Given the description of an element on the screen output the (x, y) to click on. 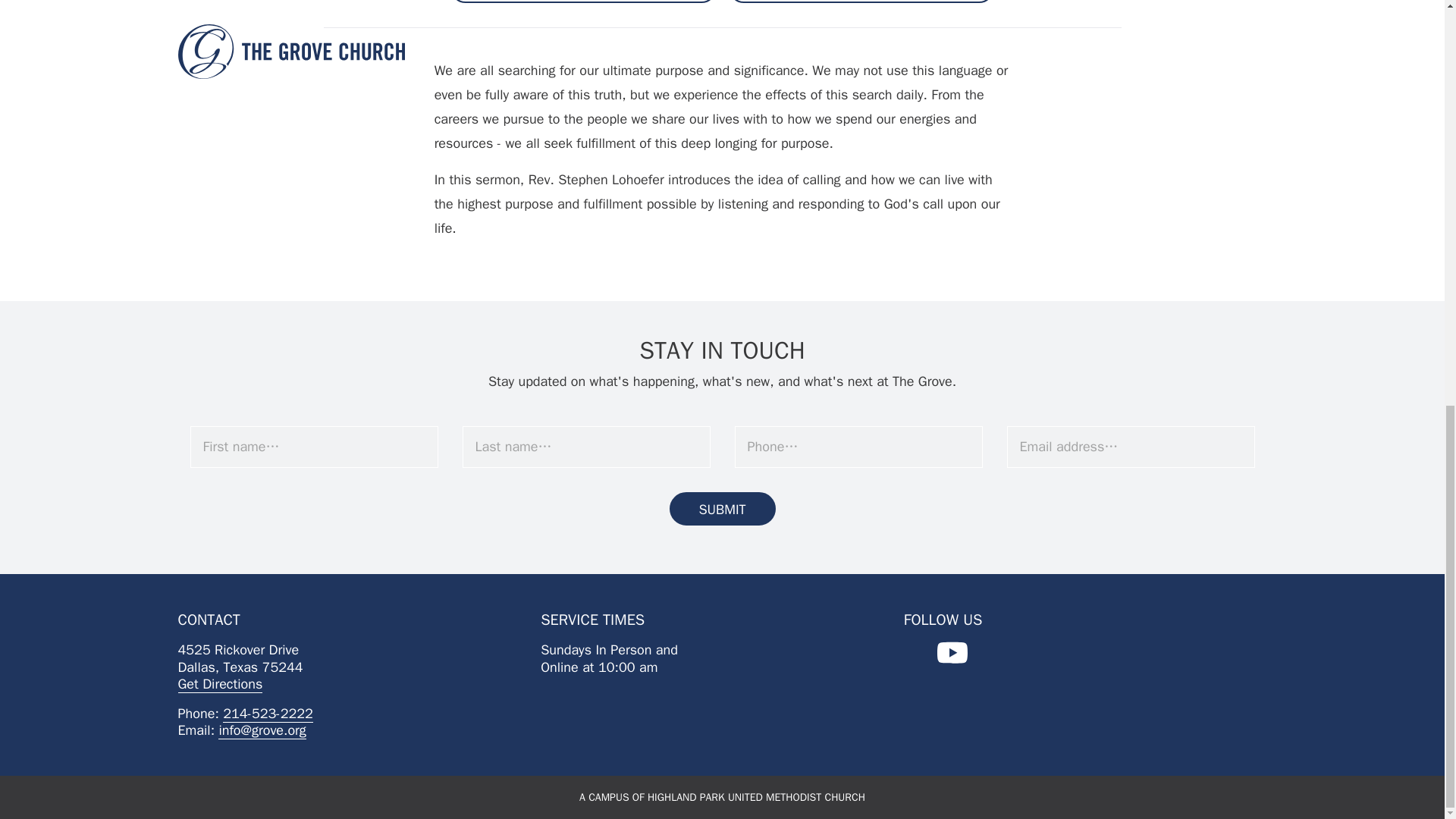
214-523-2222 (267, 713)
LISTEN TO AUDIO VERSION (582, 1)
SUBMIT (721, 509)
VIEW FULL SERMON SERIES (861, 1)
Get Directions (219, 683)
HIGHLAND PARK UNITED METHODIST CHURCH (755, 797)
